Given the description of an element on the screen output the (x, y) to click on. 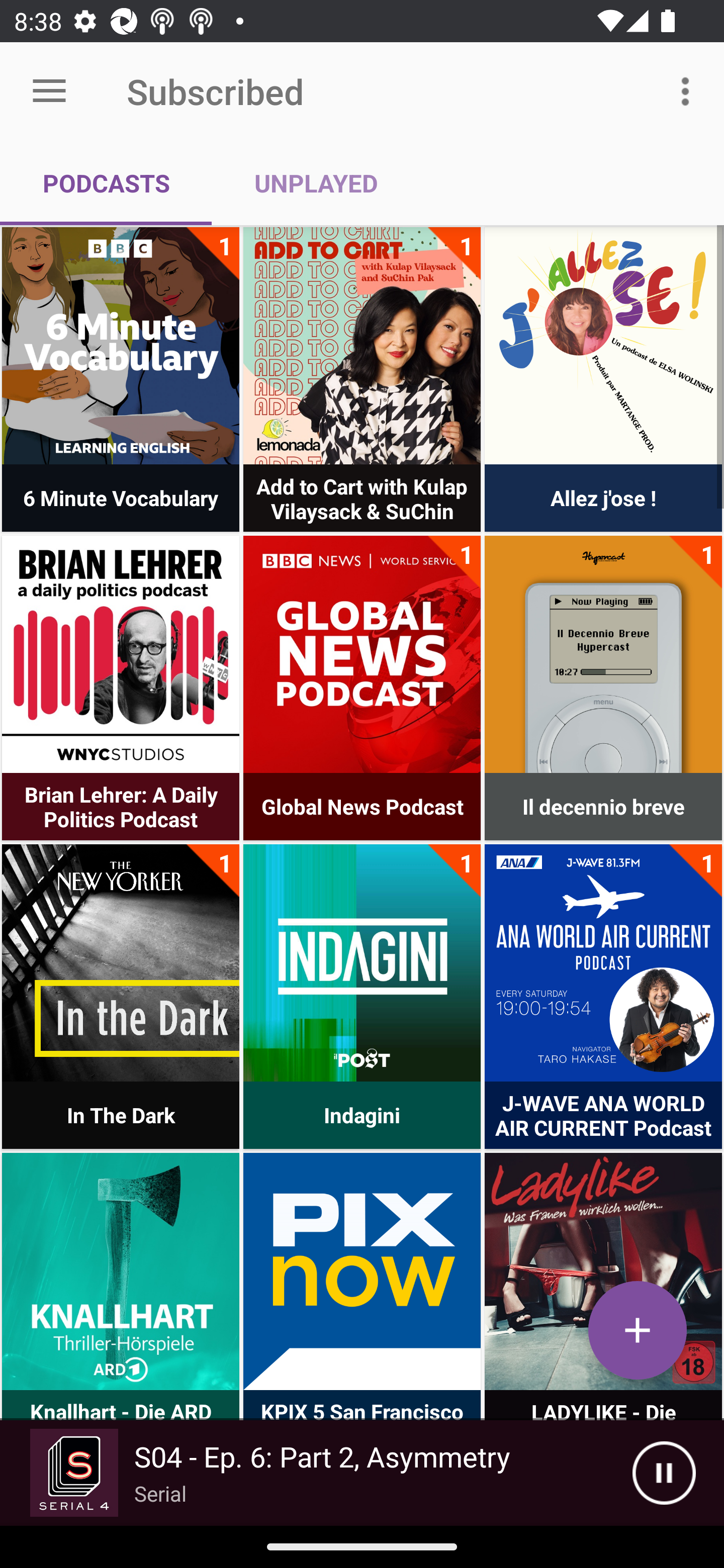
Open menu (49, 91)
More options (688, 90)
PODCASTS (105, 183)
UNPLAYED (315, 183)
6 Minute Vocabulary (120, 345)
Add to Cart with Kulap Vilaysack & SuChin Pak (361, 345)
Allez j'ose ! (602, 345)
Brian Lehrer: A Daily Politics Podcast (120, 654)
Global News Podcast (361, 654)
Il decennio breve (602, 654)
In The Dark (120, 962)
Indagini (361, 962)
J-WAVE ANA WORLD AIR CURRENT Podcast (602, 962)
Knallhart - Die ARD Thriller-Hörspiele (120, 1271)
KPIX 5 San Francisco Bay Area (361, 1271)
Picture S04 - Ep. 6: Part 2, Asymmetry Serial (316, 1472)
Pause (663, 1472)
